Given the description of an element on the screen output the (x, y) to click on. 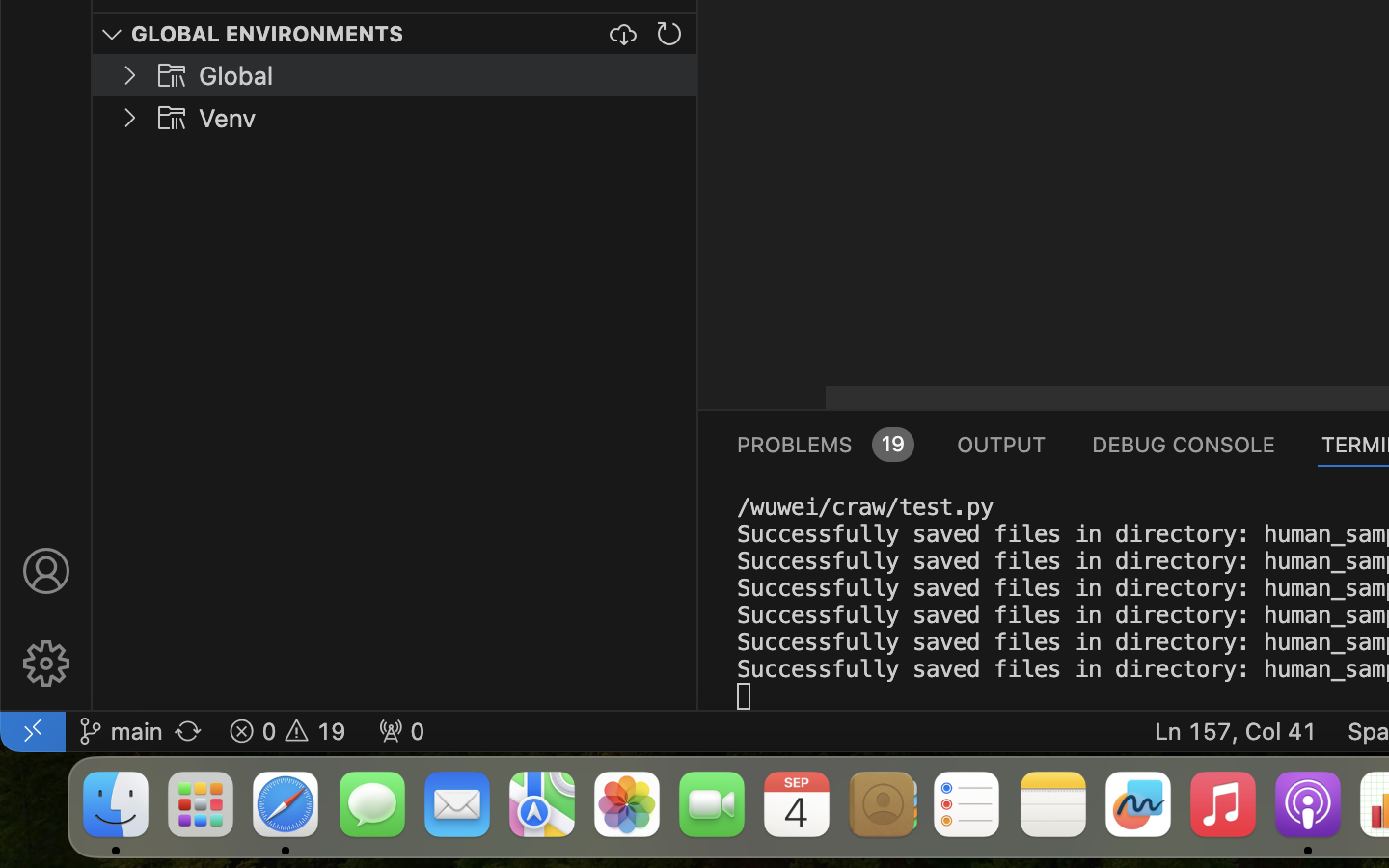
 Element type: AXStaticText (111, 34)
 0 Element type: AXButton (400, 730)
main  Element type: AXButton (120, 730)
19  0  Element type: AXButton (286, 730)
GLOBAL ENVIRONMENTS Element type: AXStaticText (268, 33)
